Given the description of an element on the screen output the (x, y) to click on. 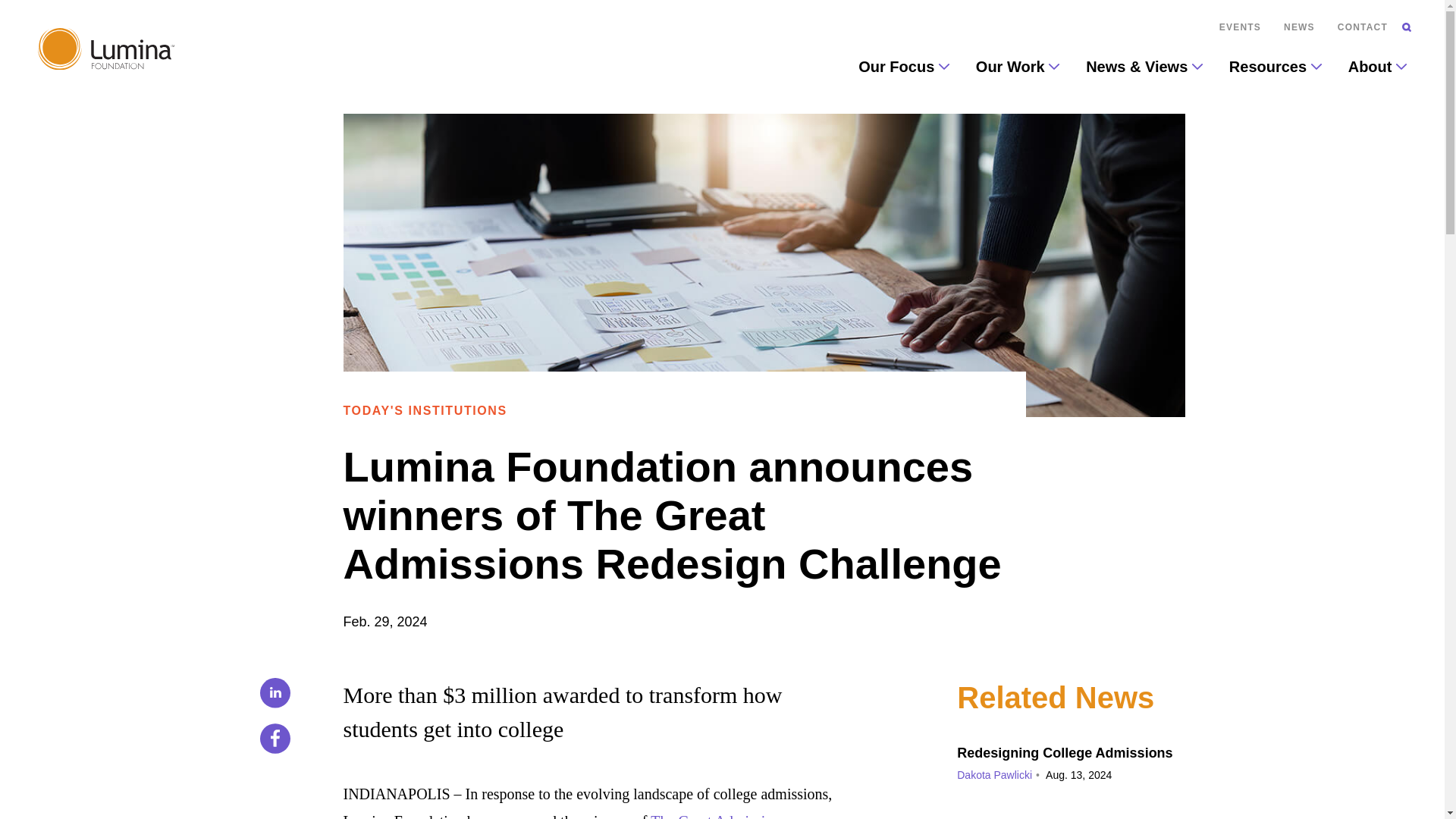
Open Search Dialog (1406, 27)
Resources (1275, 66)
Lumina Logo (106, 52)
Our Work (1017, 66)
Lumina Logo (105, 48)
Our Focus (903, 66)
EVENTS (1240, 26)
NEWS (1299, 26)
About (1376, 66)
CONTACT (1362, 26)
